Given the description of an element on the screen output the (x, y) to click on. 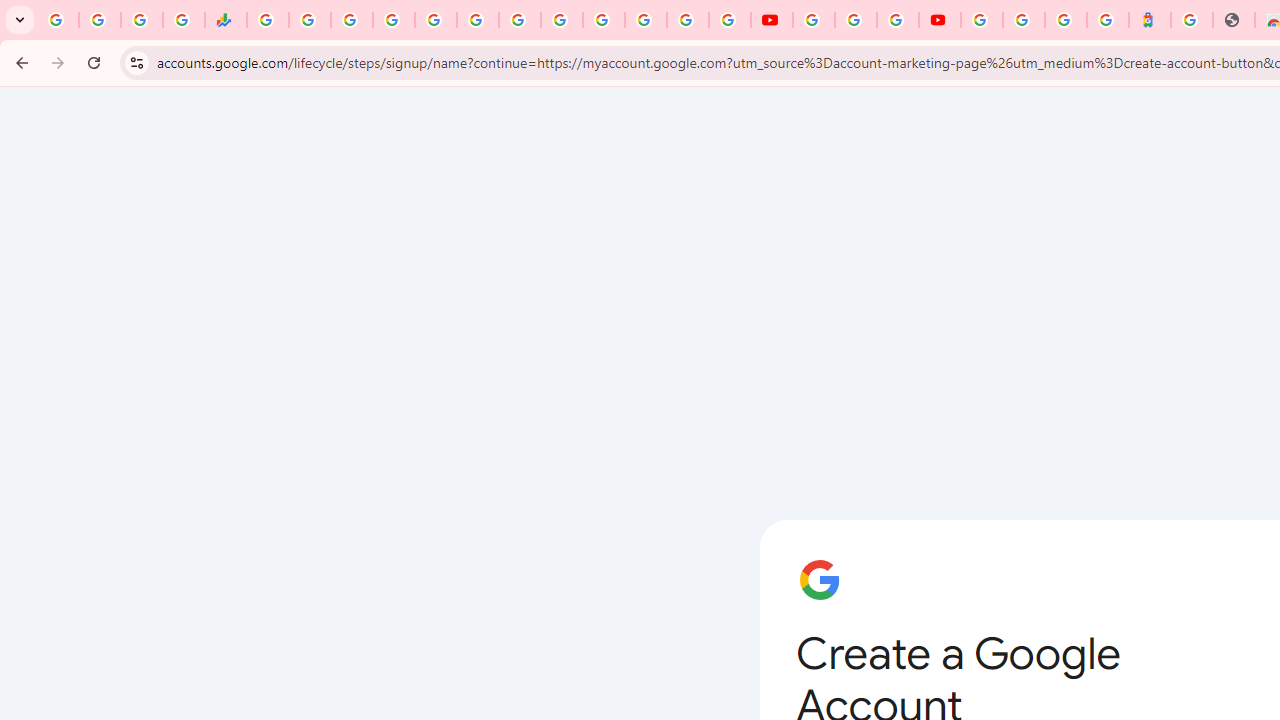
Atour Hotel - Google hotels (1150, 20)
YouTube (813, 20)
Google Account Help (855, 20)
